Given the description of an element on the screen output the (x, y) to click on. 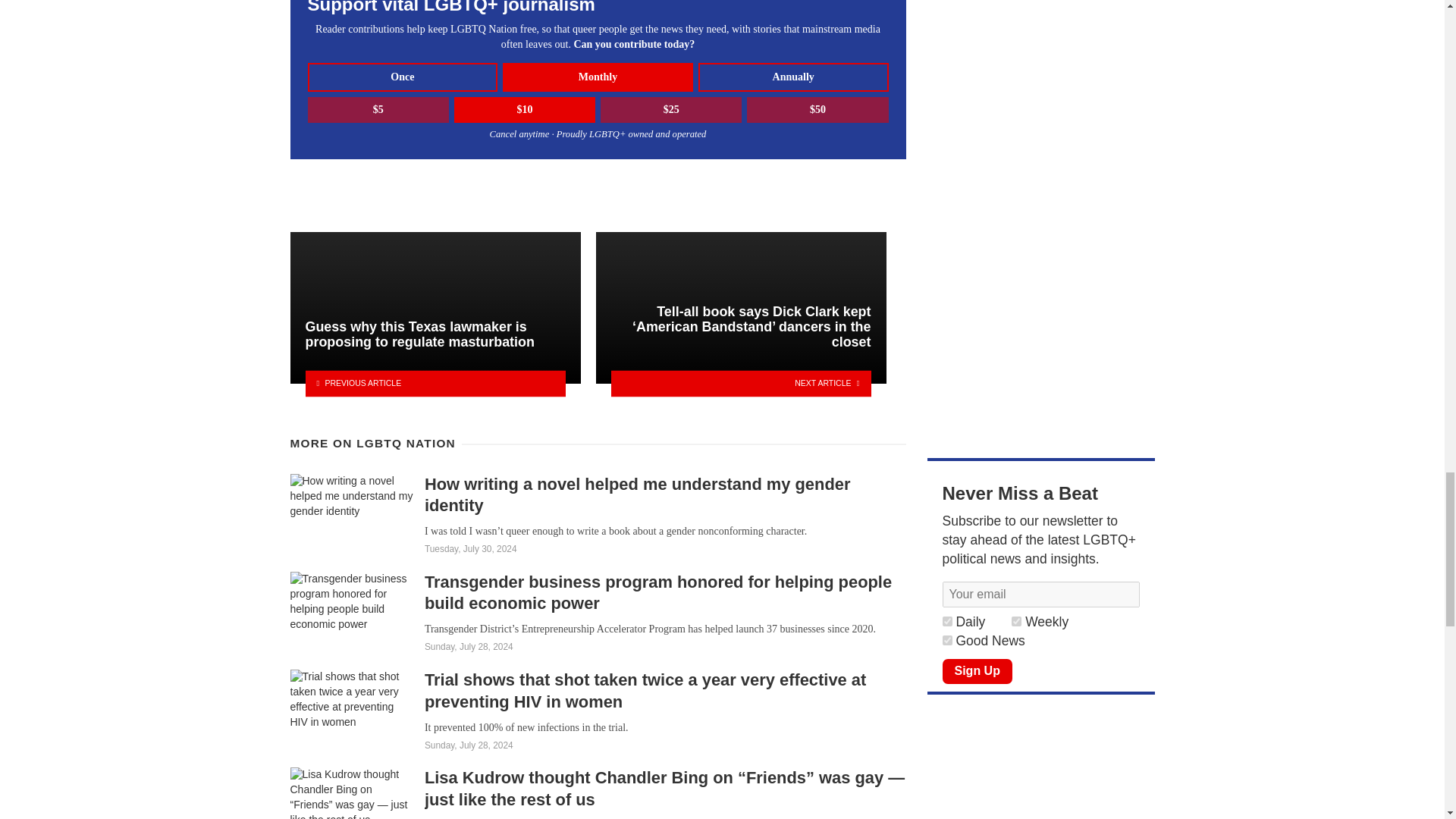
1920884 (1016, 621)
Sign Up (976, 671)
1920883 (947, 640)
1920885 (947, 621)
